Given the description of an element on the screen output the (x, y) to click on. 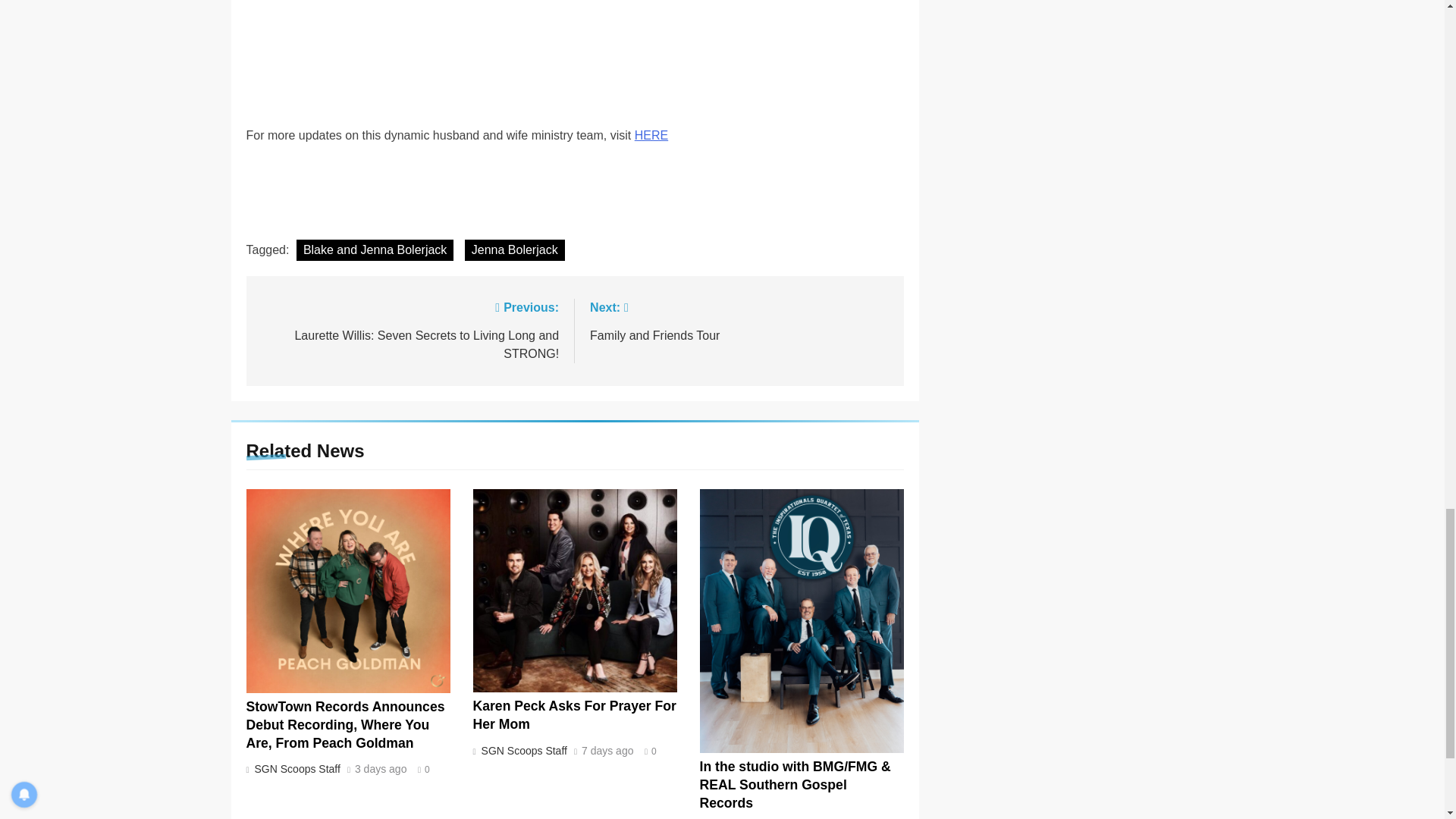
Jenna Bolerjack (738, 320)
3 days ago (514, 250)
HERE (381, 769)
Blake and Jenna Bolerjack (651, 134)
7 days ago (374, 250)
Karen Peck Asks For Prayer For Her Mom (606, 751)
SGN Scoops Staff (575, 715)
SGN Scoops Staff (295, 768)
